Given the description of an element on the screen output the (x, y) to click on. 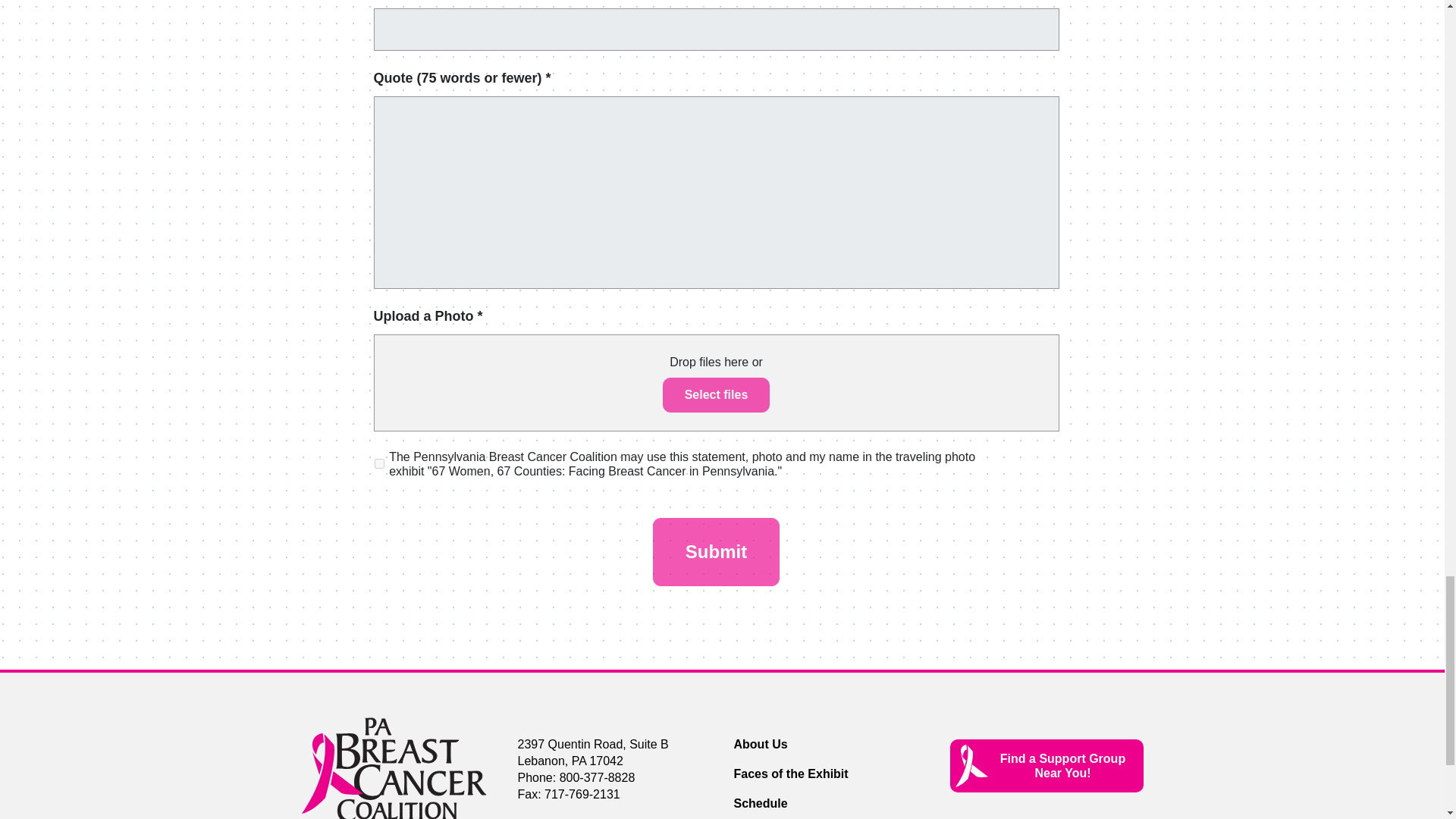
Submit (715, 551)
Find a Support Group Near You! (1045, 765)
Schedule (760, 802)
Faces of the Exhibit (790, 773)
Select files (716, 394)
Submit (715, 551)
800-377-8828 (596, 777)
About Us (760, 744)
